Given the description of an element on the screen output the (x, y) to click on. 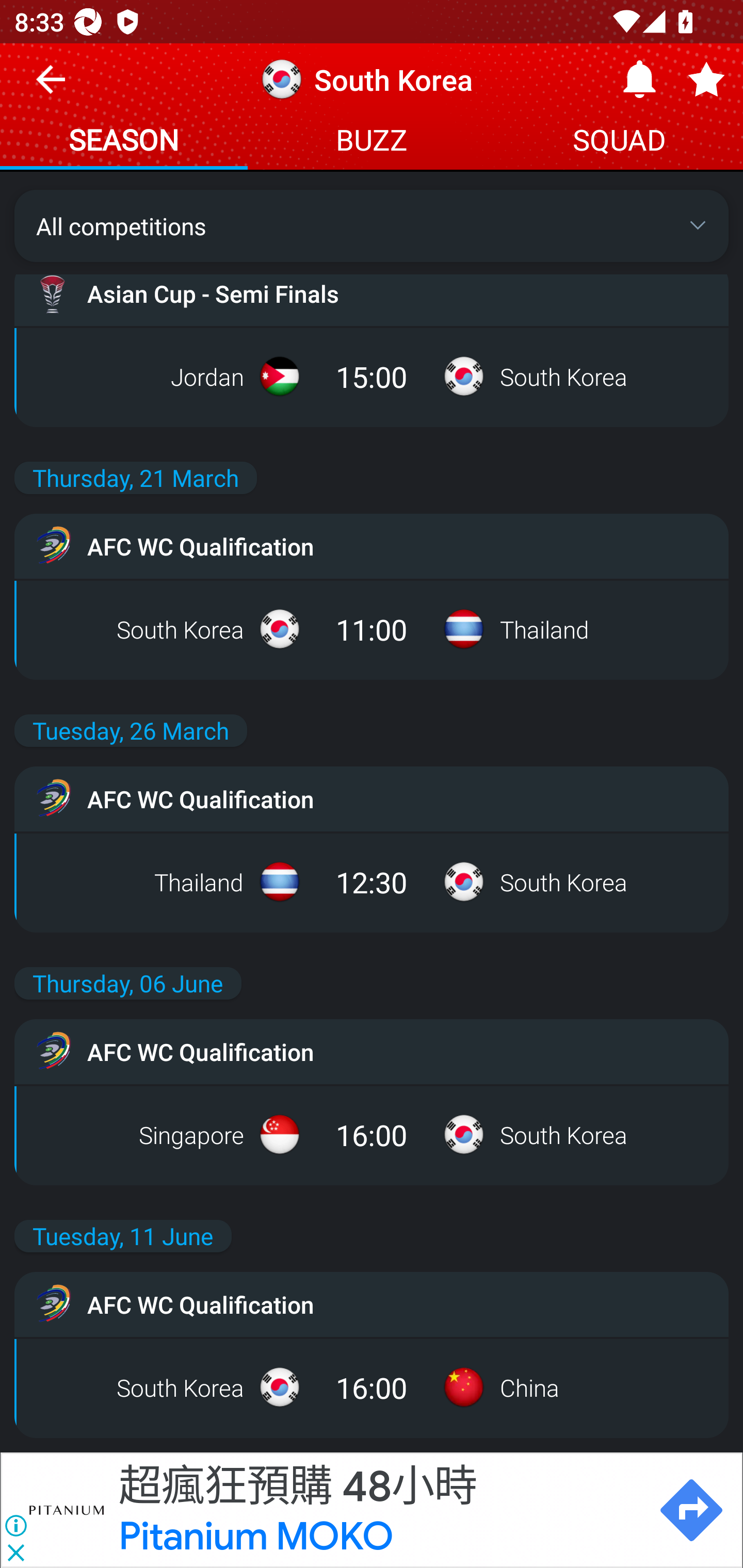
Navigate up (50, 86)
SEASON (123, 142)
BUZZ (371, 142)
SQUAD (619, 142)
All competitions (371, 225)
Asian Cup - Semi Finals (371, 293)
Jordan 15:00 South Korea (371, 376)
AFC WC Qualification (371, 546)
South Korea 11:00 Thailand (371, 629)
AFC WC Qualification (371, 798)
Thailand 12:30 South Korea (371, 881)
AFC WC Qualification (371, 1051)
Singapore 16:00 South Korea (371, 1134)
AFC WC Qualification (371, 1304)
South Korea 16:00 China (371, 1387)
超瘋狂預購 48小時 Pitanium MOKO 超瘋狂預購 48小時 Pitanium MOKO (379, 1509)
